Given the description of an element on the screen output the (x, y) to click on. 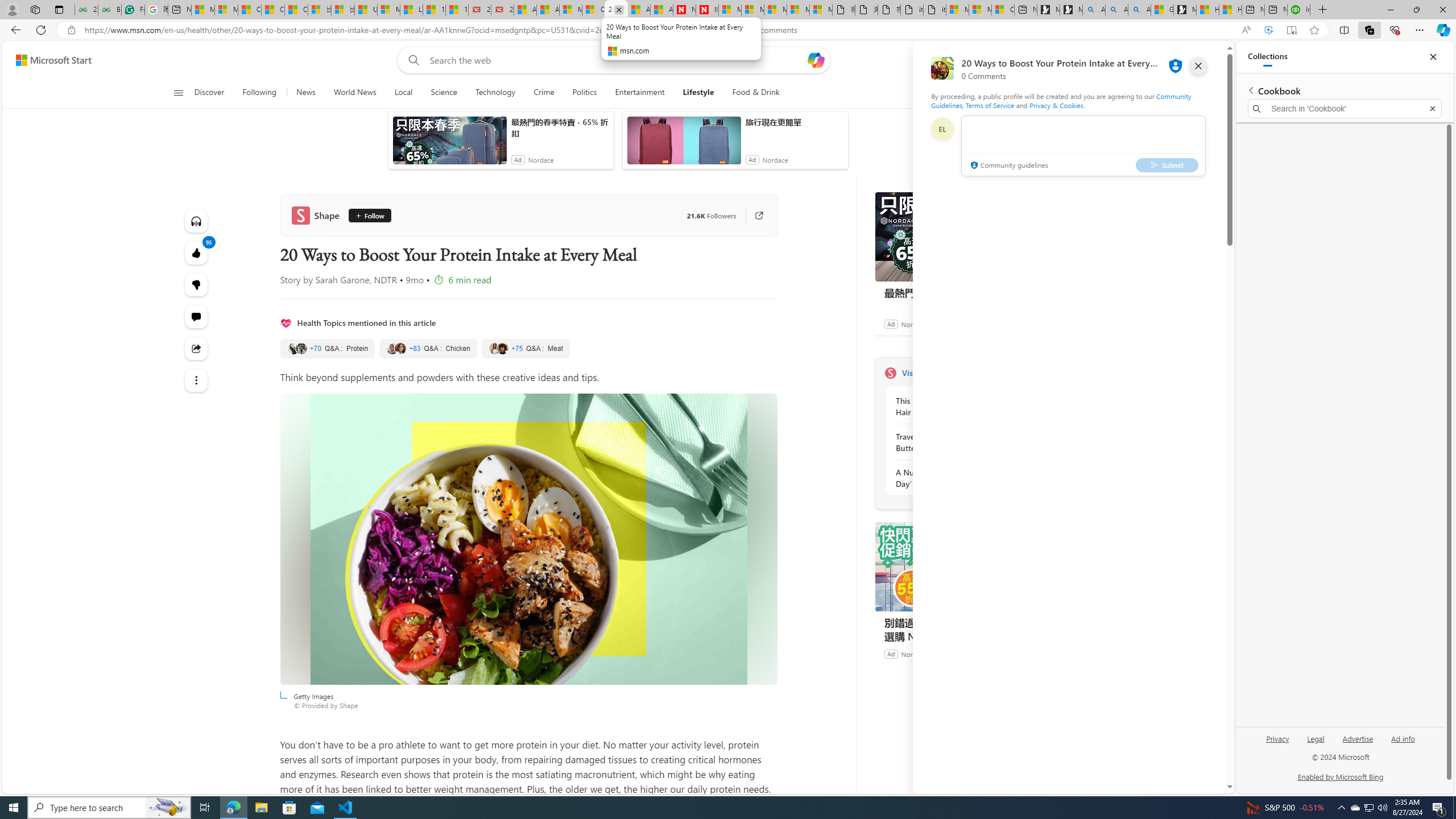
Free AI Writing Assistance for Students | Grammarly (132, 9)
Alabama high school quarterback dies - Search Videos (1139, 9)
Skip to footer (46, 59)
Follow (366, 215)
Food & Drink (756, 92)
Advertise (1358, 742)
Chicken (427, 348)
Technology (494, 92)
